Given the description of an element on the screen output the (x, y) to click on. 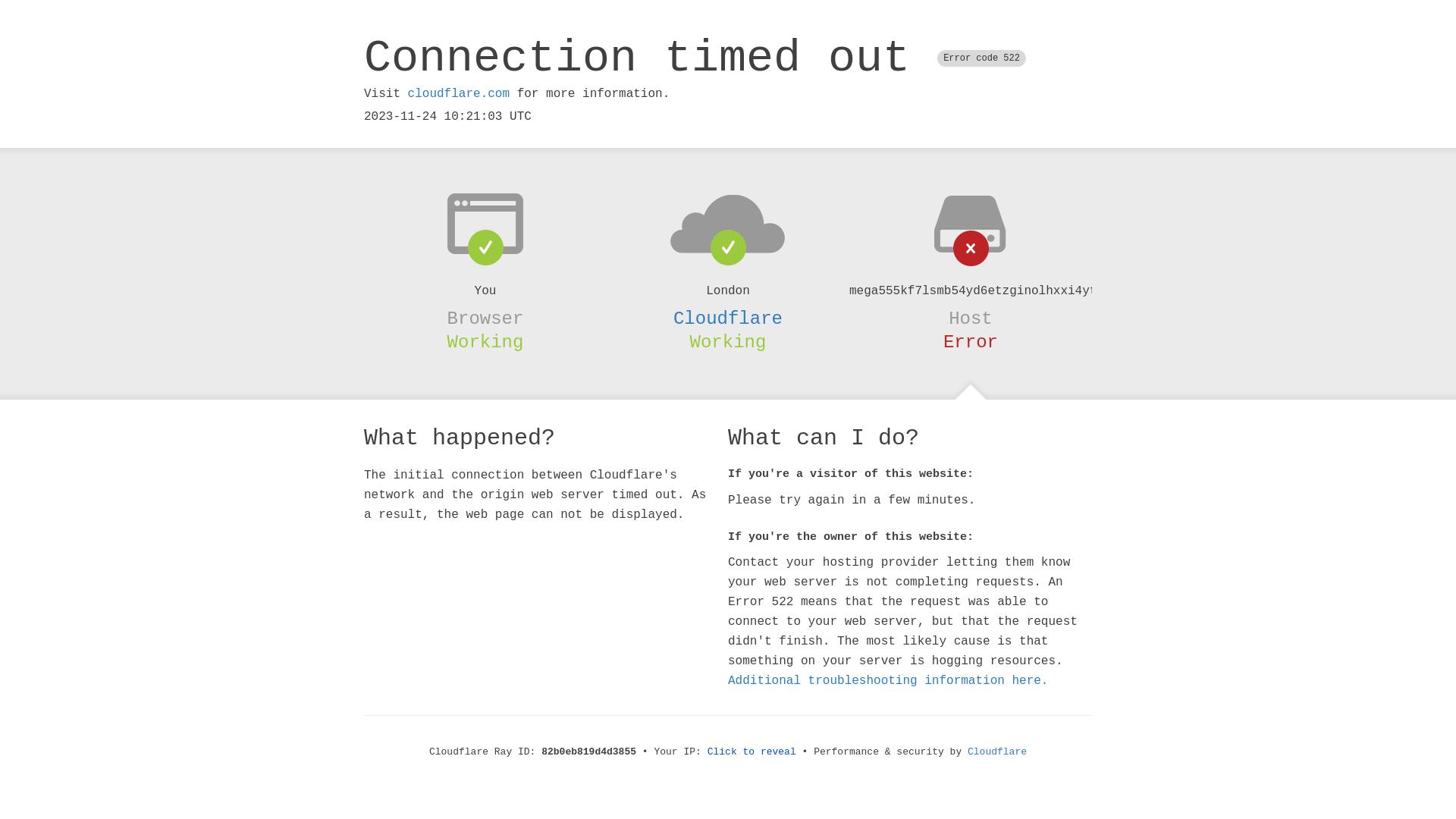
Cloudflare Element type: text (996, 751)
Click to reveal Element type: text (751, 751)
cloudflare.com Element type: text (458, 93)
Additional troubleshooting information here. Element type: text (888, 680)
Cloudflare Element type: text (727, 318)
